Given the description of an element on the screen output the (x, y) to click on. 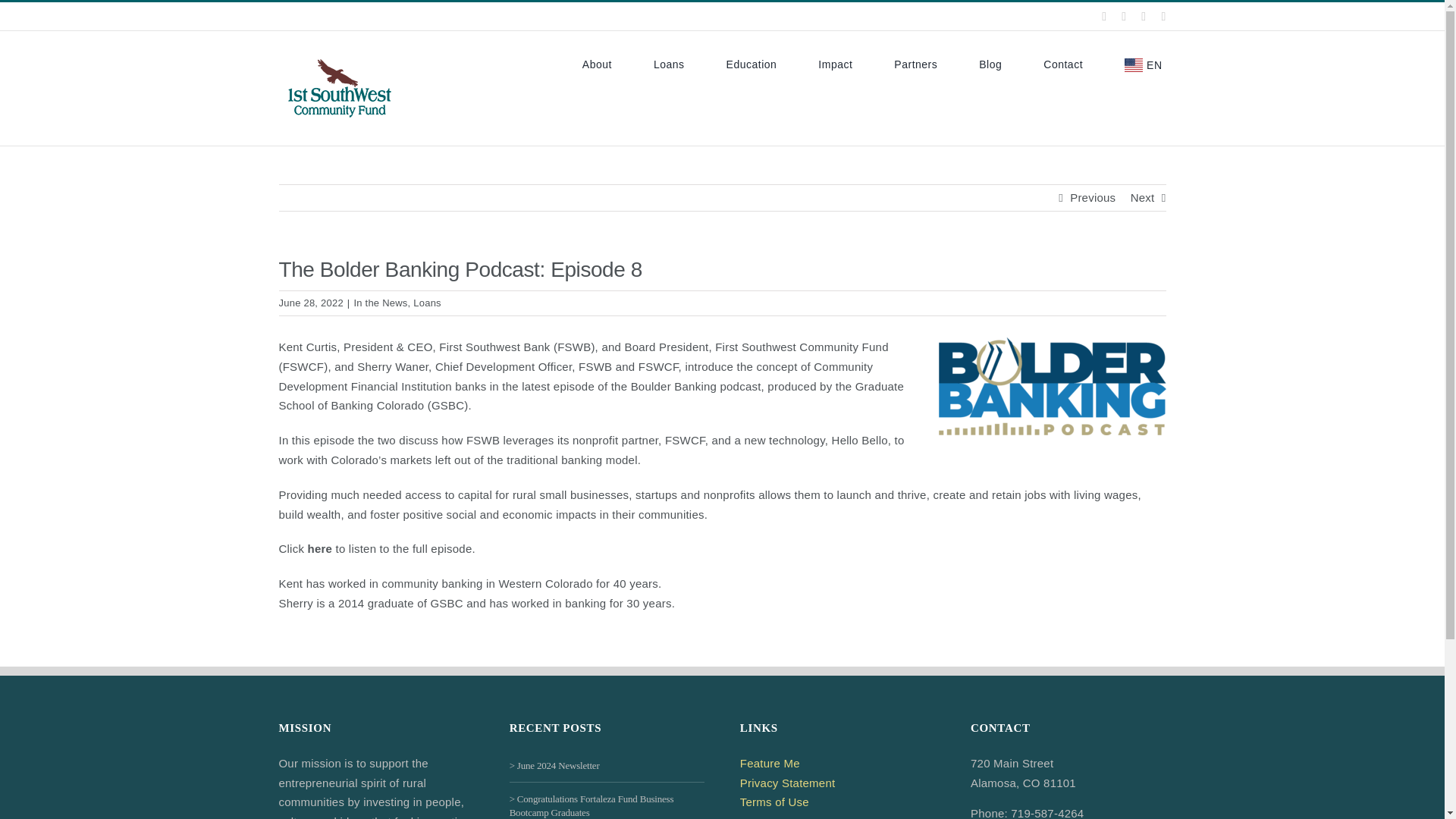
X (1123, 16)
EN (1145, 64)
Education (751, 63)
Impact (834, 63)
LinkedIn (1163, 16)
English (1145, 64)
Partners (915, 63)
Facebook (1104, 16)
Blog (989, 63)
About (596, 63)
Instagram (1143, 16)
Loans (668, 63)
Contact (1063, 63)
